Given the description of an element on the screen output the (x, y) to click on. 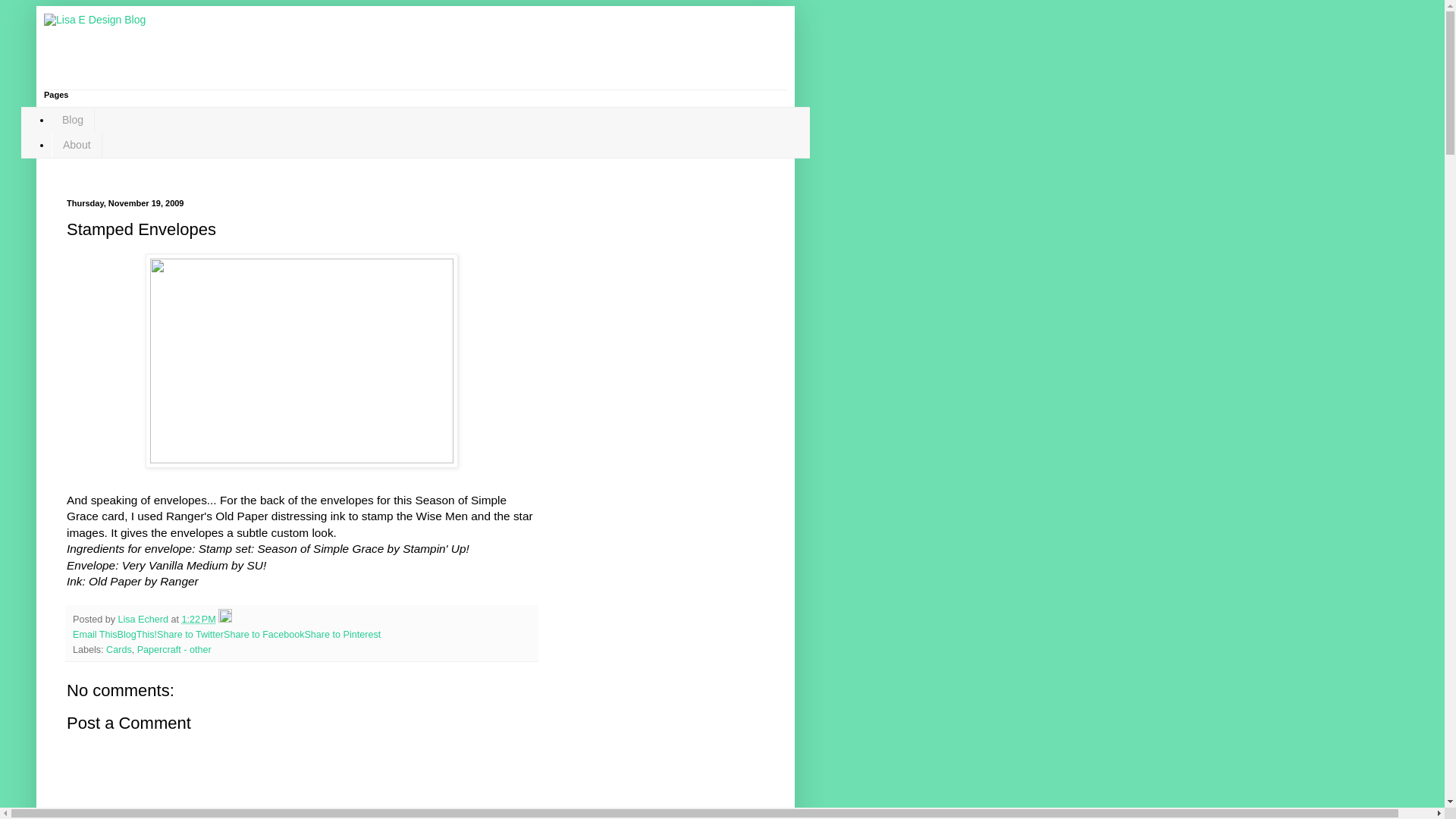
Share to Twitter (190, 634)
Share to Facebook (264, 634)
About (75, 145)
BlogThis! (137, 634)
Email This (94, 634)
Email This (94, 634)
Share to Pinterest (342, 634)
Edit Post (224, 619)
Share to Facebook (264, 634)
author profile (144, 619)
Papercraft - other (173, 649)
Share to Pinterest (342, 634)
Cards (119, 649)
permanent link (198, 619)
BlogThis! (137, 634)
